Given the description of an element on the screen output the (x, y) to click on. 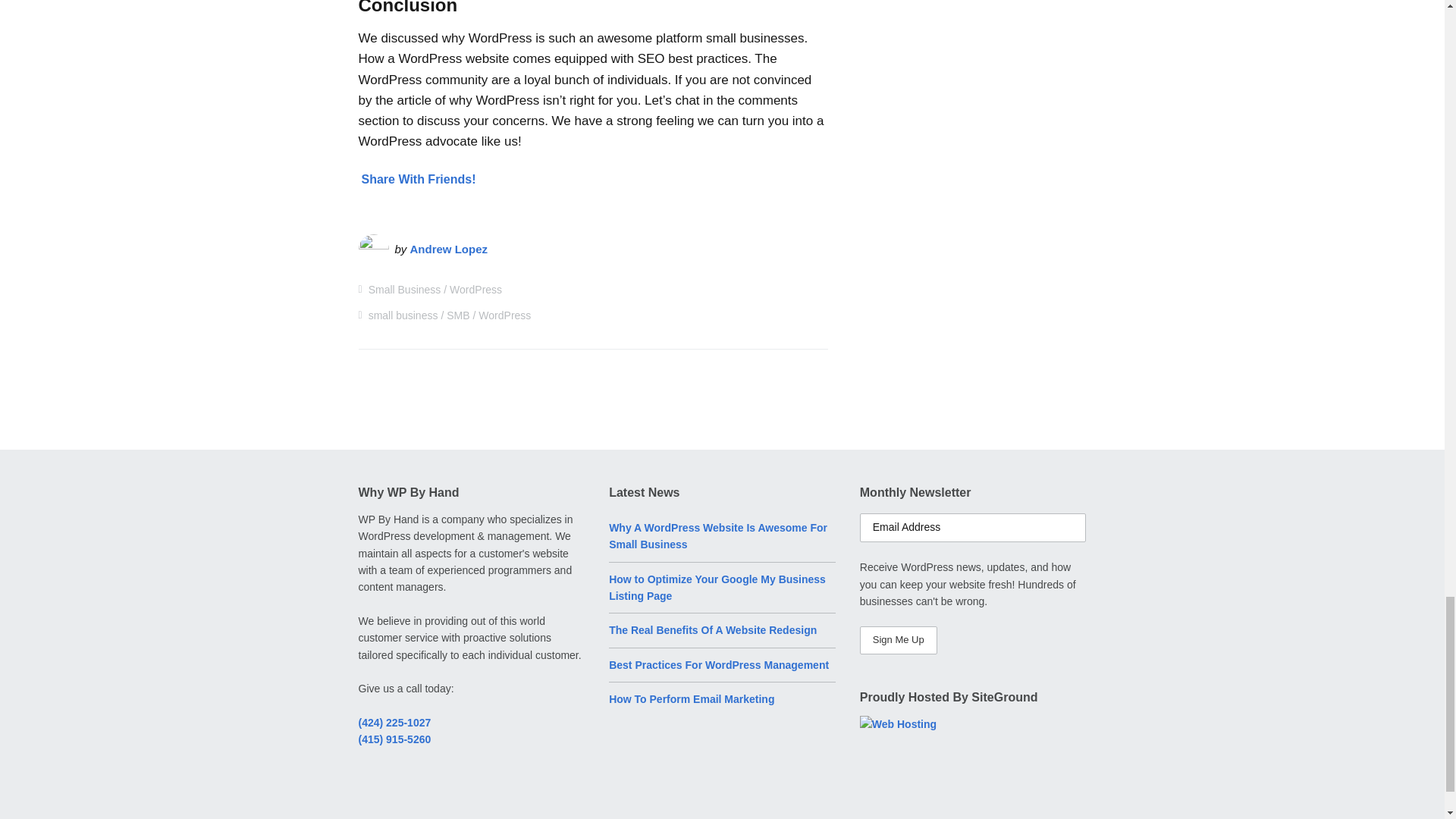
WordPress (505, 315)
small business (403, 315)
Sign Me Up (898, 640)
WordPress (475, 289)
Small Business (404, 289)
SMB (457, 315)
Andrew Lopez (448, 248)
Share With Friends! (418, 179)
